Given the description of an element on the screen output the (x, y) to click on. 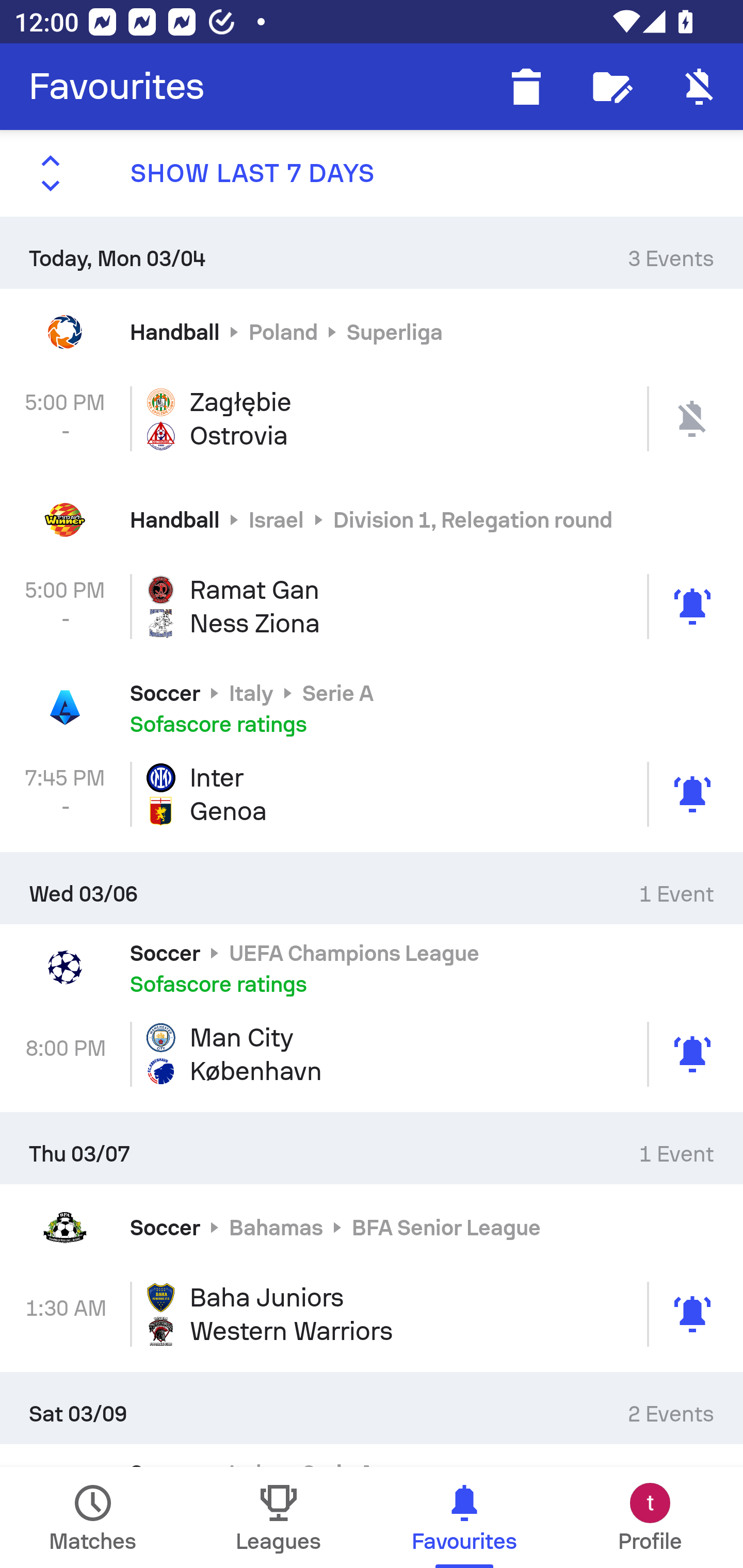
Favourites (116, 86)
Delete finished (525, 86)
Follow editor (612, 86)
Enable notifications (699, 86)
SHOW LAST 7 DAYS (371, 173)
Today, Mon 03/04 3 Events (371, 252)
Handball Poland Superliga (371, 331)
5:00 PM - Zagłębie Ostrovia (371, 418)
Handball Israel Division 1, Relegation round (371, 519)
5:00 PM - Ramat Gan Ness Ziona (371, 605)
Soccer Italy Serie A Sofascore ratings (371, 707)
7:45 PM - Inter Genoa (371, 794)
Wed 03/06 1 Event (371, 887)
Soccer UEFA Champions League Sofascore ratings (371, 967)
8:00 PM Man City København (371, 1054)
Thu 03/07 1 Event (371, 1147)
Soccer Bahamas BFA Senior League (371, 1227)
1:30 AM Baha Juniors Western Warriors (371, 1314)
Sat 03/09 2 Events (371, 1408)
Matches (92, 1517)
Leagues (278, 1517)
Profile (650, 1517)
